Given the description of an element on the screen output the (x, y) to click on. 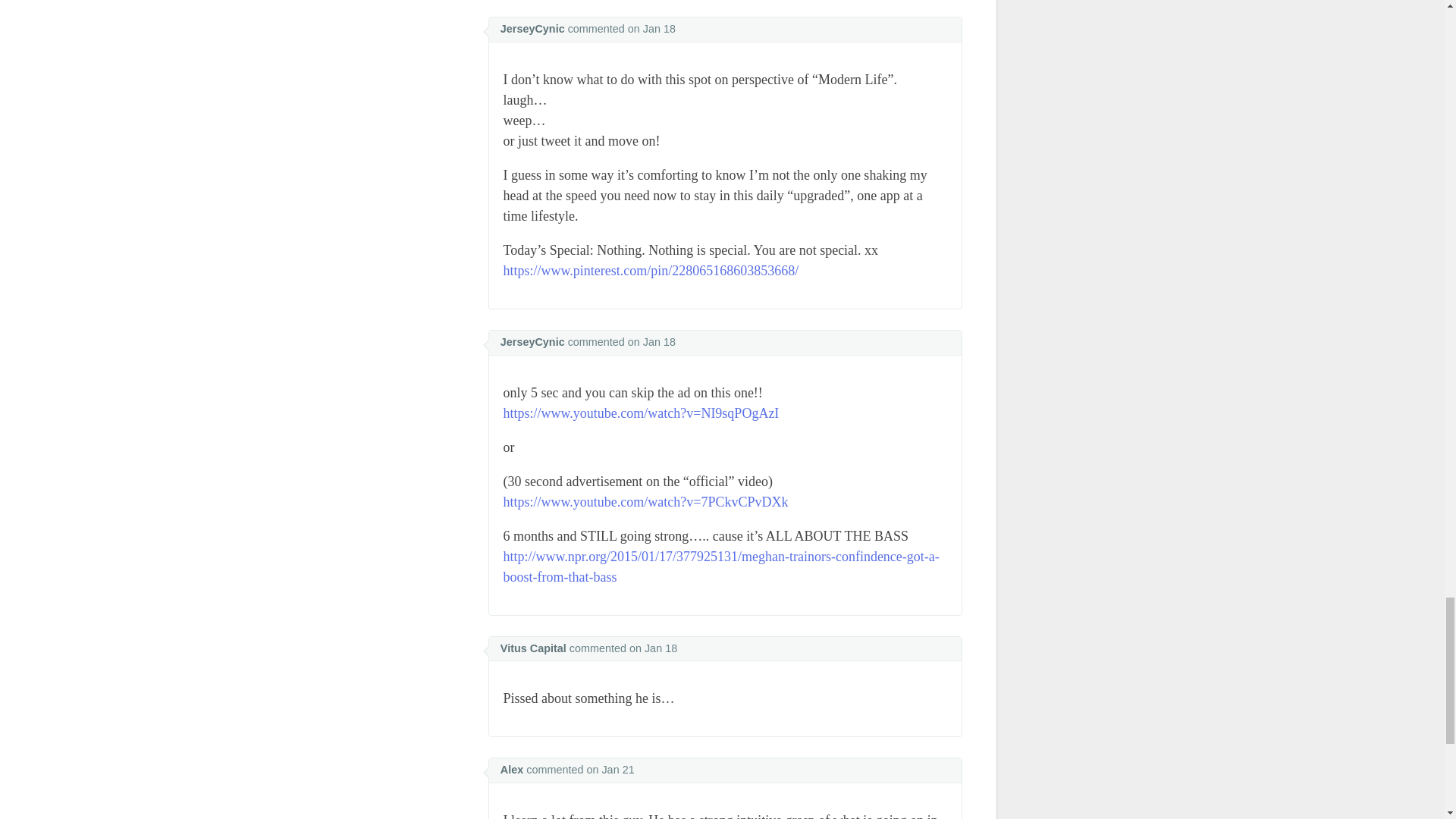
JerseyCynic (532, 28)
Alex (511, 769)
JerseyCynic (532, 341)
Vitus Capital (533, 648)
